Given the description of an element on the screen output the (x, y) to click on. 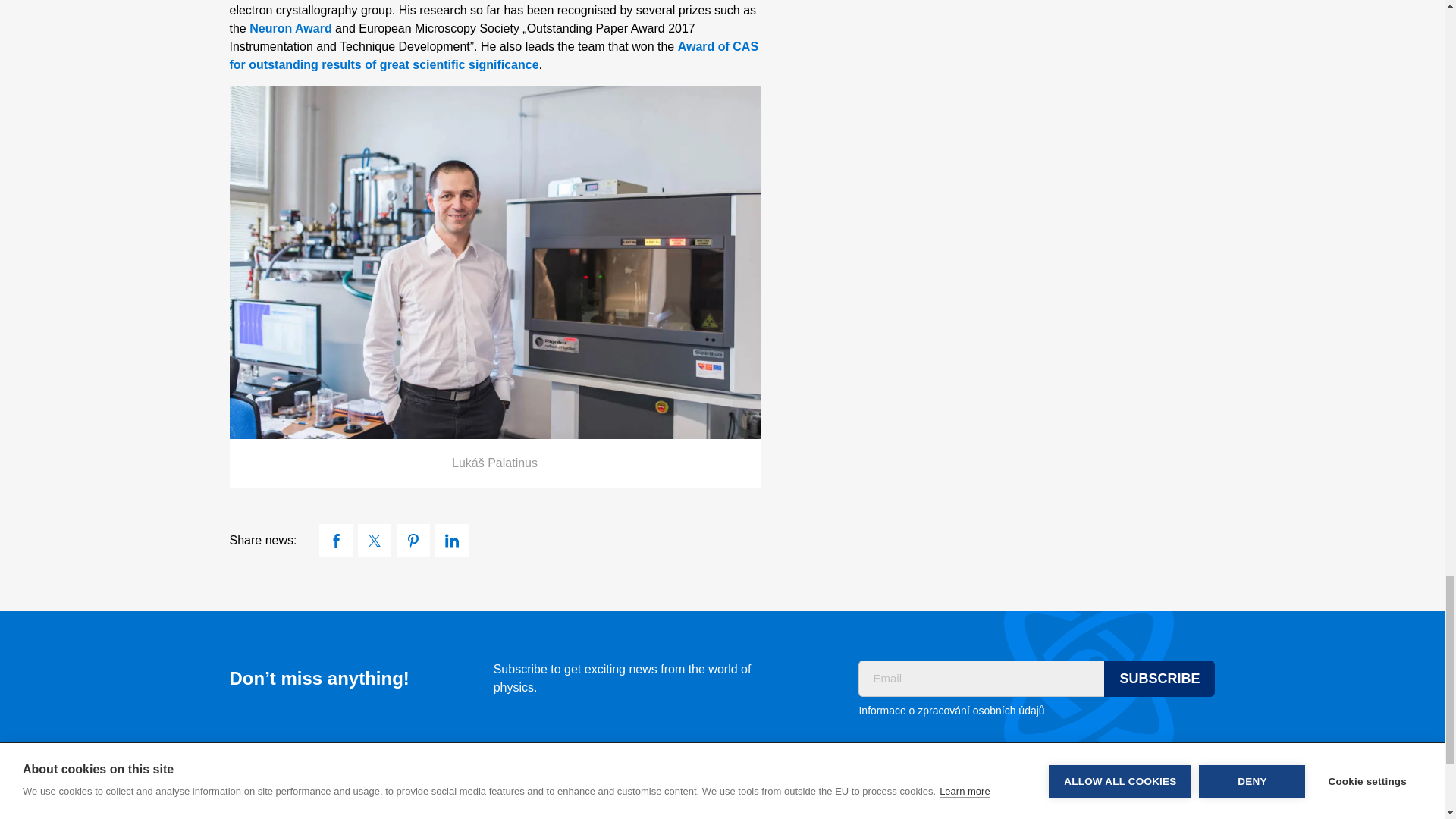
Subscribe (1158, 678)
